Given the description of an element on the screen output the (x, y) to click on. 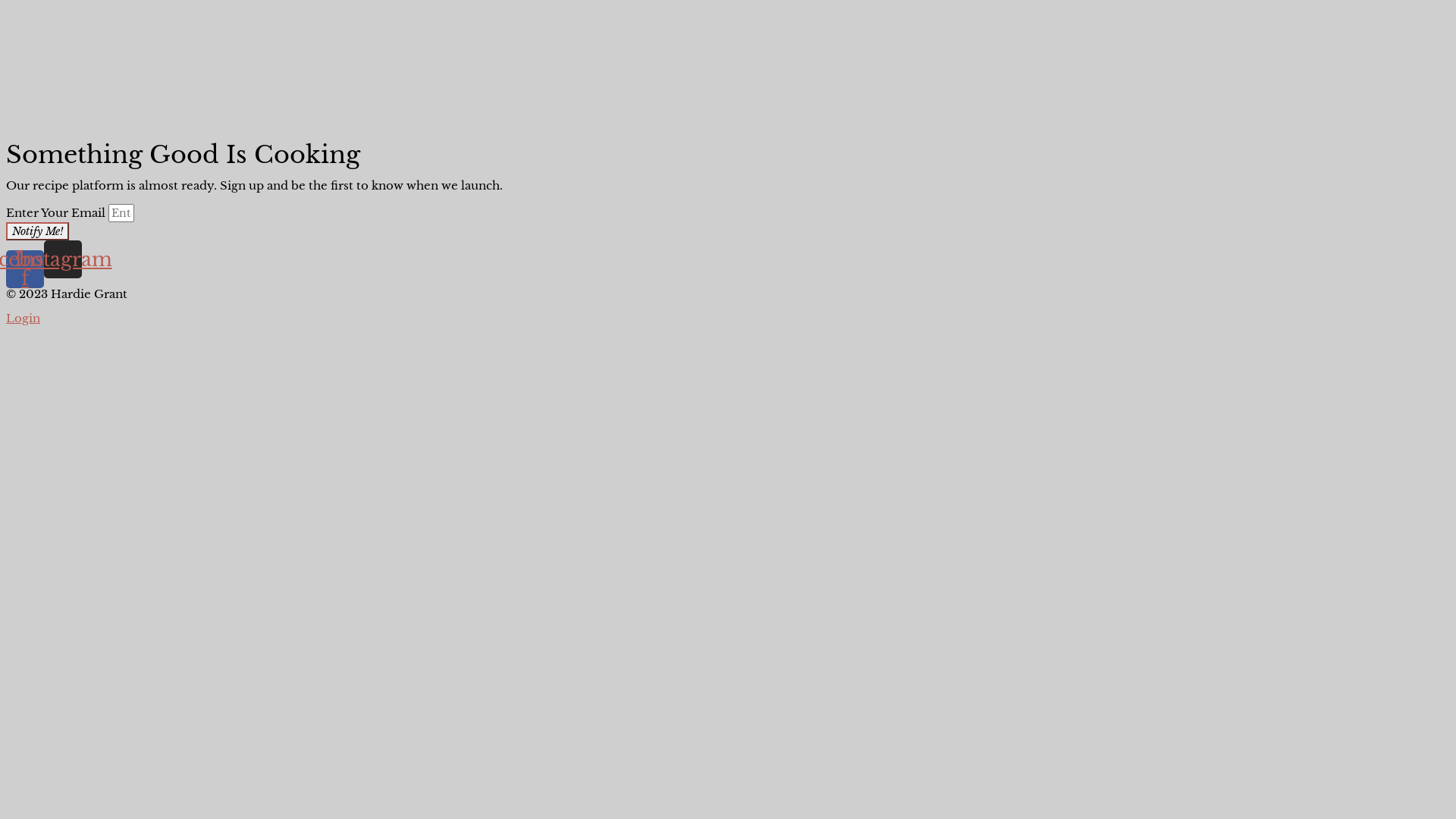
Login Element type: text (23, 317)
Notify Me! Element type: text (37, 231)
Instagram Element type: text (62, 259)
Facebook-f Element type: text (24, 269)
